Given the description of an element on the screen output the (x, y) to click on. 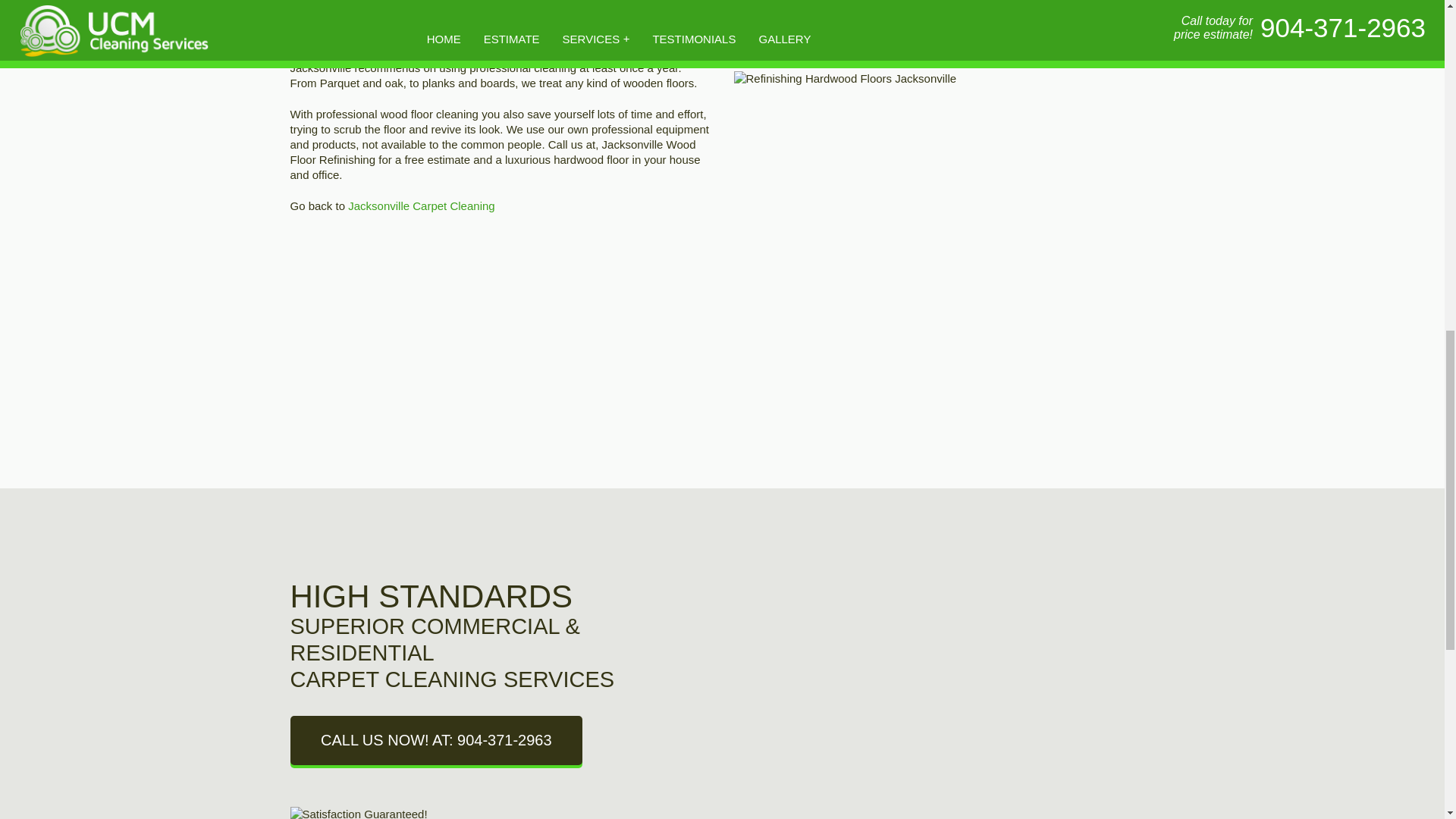
Jacksonville Carpet Cleaning (421, 205)
Refinishing Hardwood Floors Jacksonville (943, 211)
CALL US NOW! AT: 904-371-2963 (434, 739)
Satisfaction Guaranteed! (402, 812)
